Given the description of an element on the screen output the (x, y) to click on. 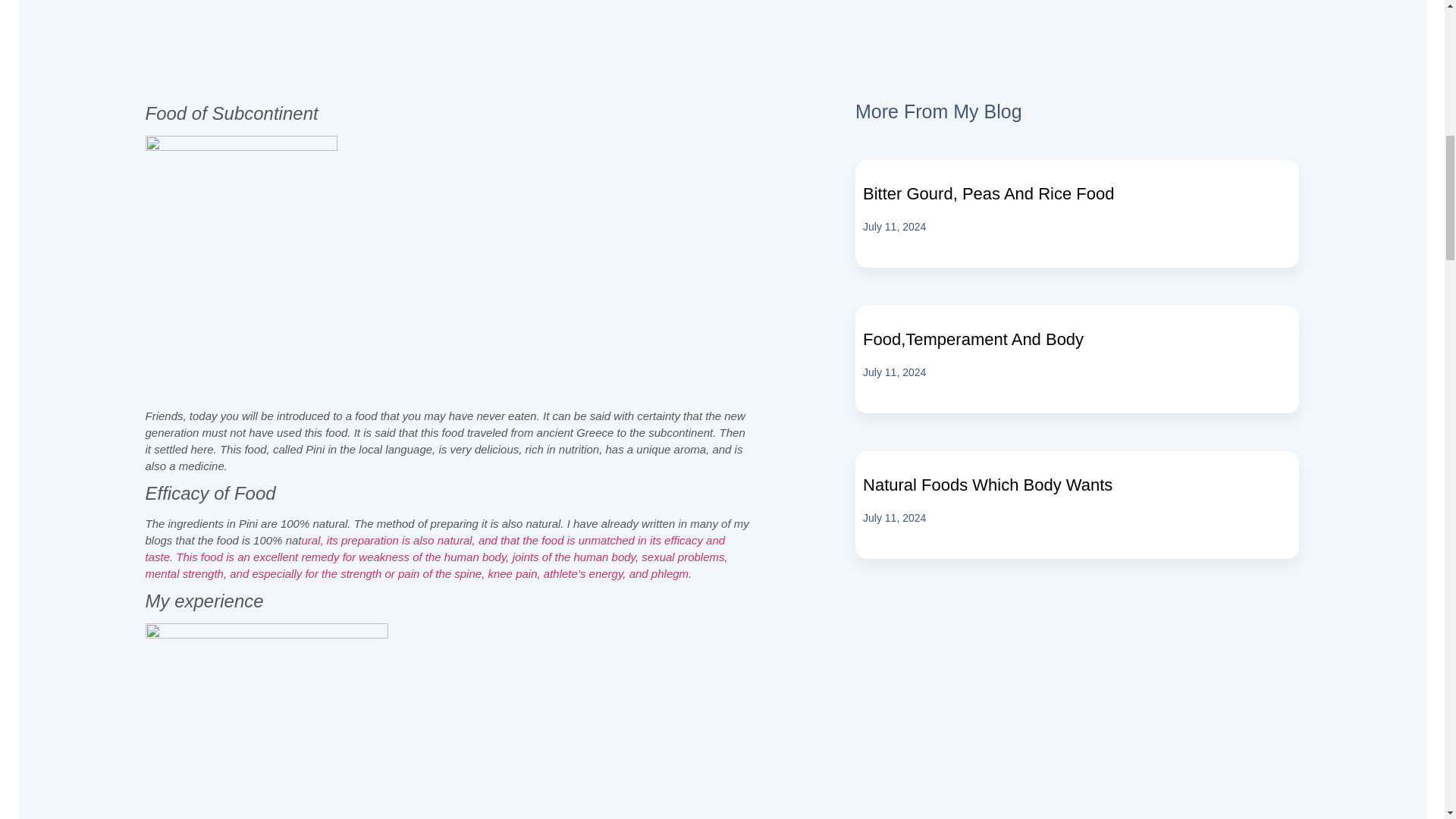
Bitter Gourd, Peas And Rice Food (988, 193)
Natural Foods Which Body Wants (987, 484)
Food,Temperament And Body (973, 339)
